Given the description of an element on the screen output the (x, y) to click on. 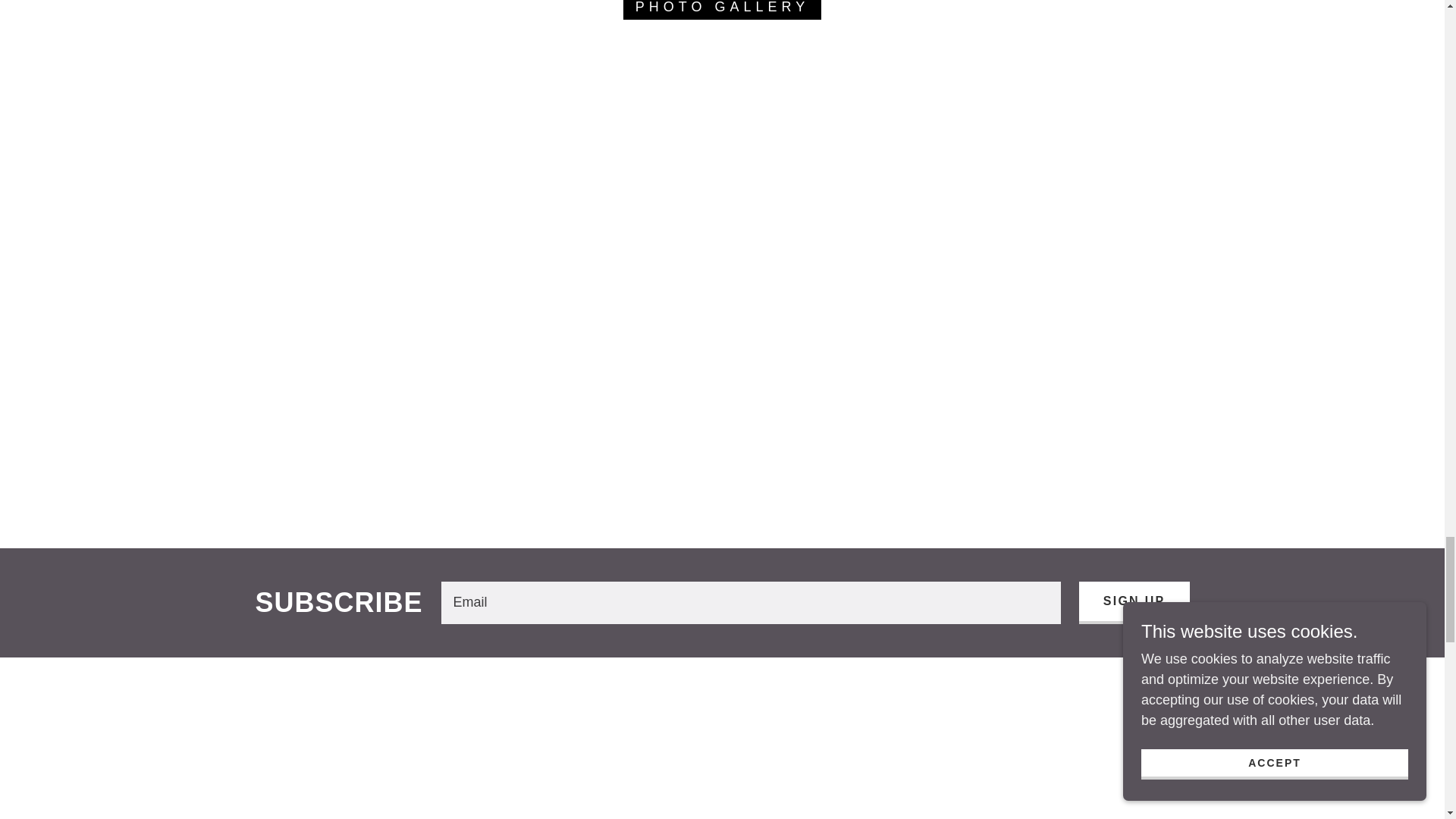
SIGN UP (1133, 602)
